Given the description of an element on the screen output the (x, y) to click on. 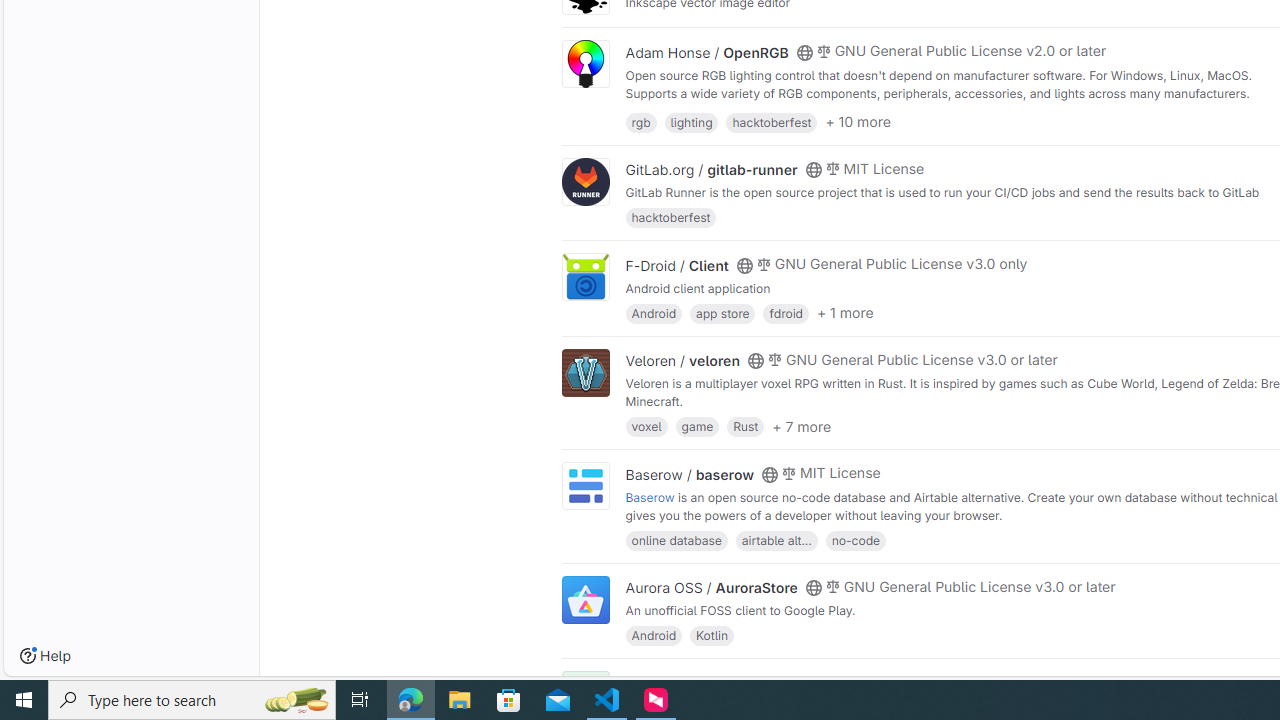
+ 7 more (801, 425)
Rust (746, 426)
game (697, 426)
no-code (854, 539)
hacktoberfest (670, 217)
app store (723, 312)
voxel (646, 426)
Class: project (585, 599)
online database (676, 539)
Baserow (649, 496)
Baserow / baserow (689, 474)
Kotlin (712, 634)
Class: s16 (804, 683)
Edouard Klein / falsisign (706, 682)
Adam Honse / OpenRGB (706, 52)
